Given the description of an element on the screen output the (x, y) to click on. 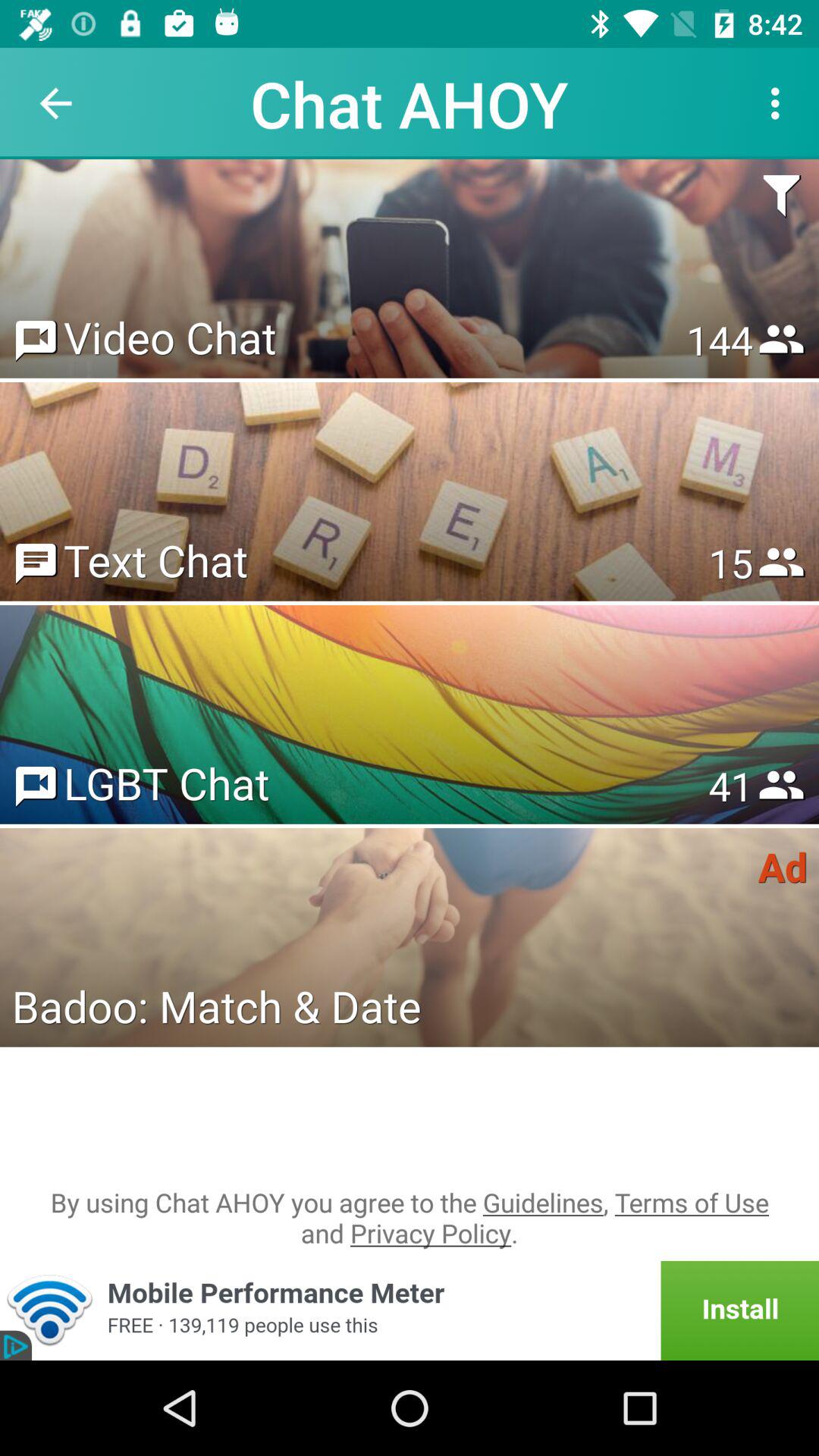
turn off item next to video chat (719, 339)
